Given the description of an element on the screen output the (x, y) to click on. 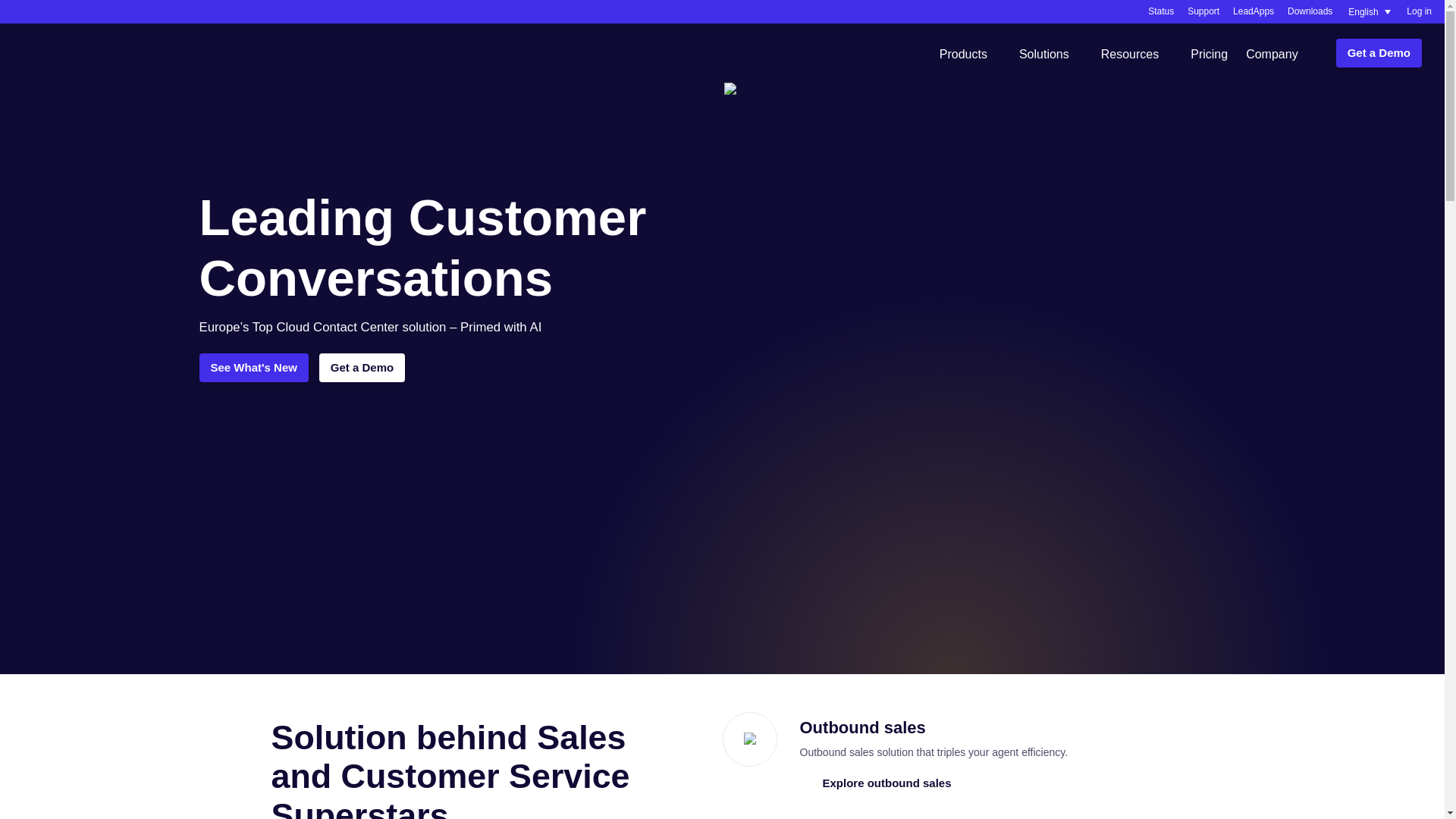
Solutions (1051, 52)
English (1368, 11)
Support (1204, 10)
Downloads (1309, 10)
Status (1160, 10)
Log in (1418, 10)
LeadApps (1253, 10)
Products (970, 52)
